Given the description of an element on the screen output the (x, y) to click on. 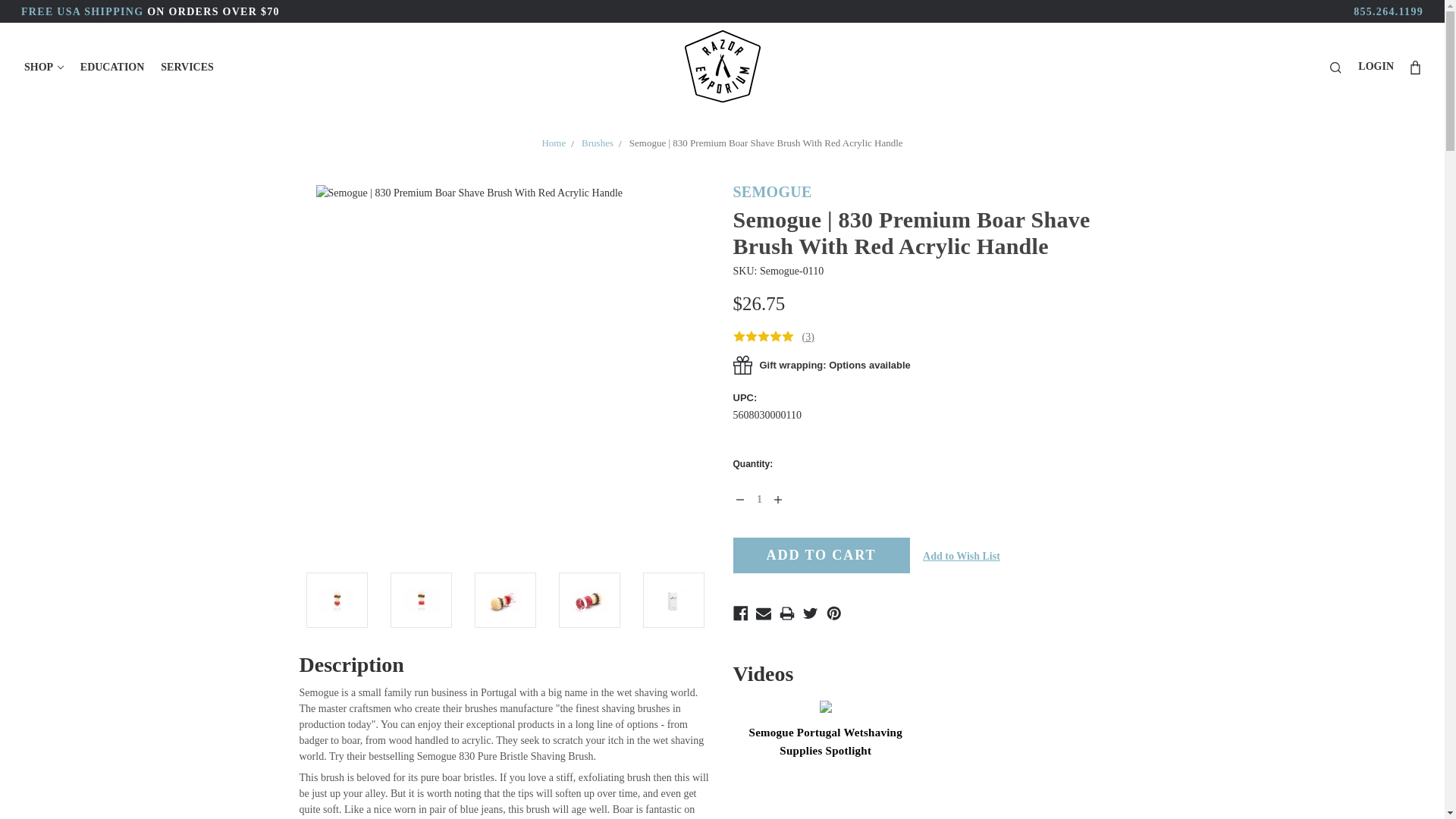
EDUCATION (111, 66)
LOGIN (1375, 66)
Razor Emporium (722, 66)
SERVICES (187, 66)
SHOP (43, 66)
Add to Cart (820, 555)
